Given the description of an element on the screen output the (x, y) to click on. 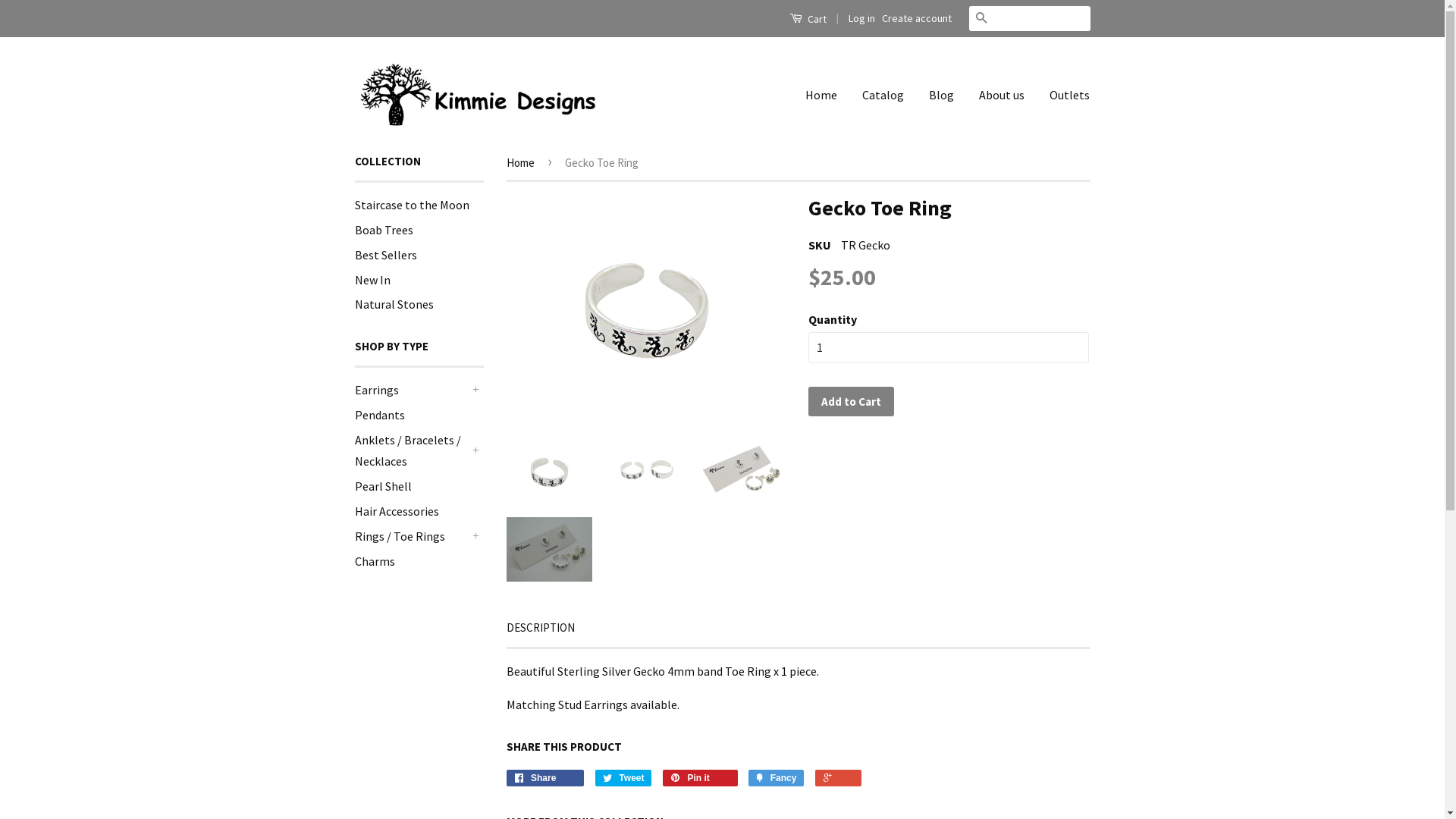
Fancy Element type: text (775, 777)
Cart Element type: text (806, 17)
DESCRIPTION Element type: text (540, 627)
Home Element type: text (826, 94)
Tweet Element type: text (623, 777)
Catalog Element type: text (882, 94)
Create account Element type: text (915, 18)
+ Element type: text (475, 450)
Blog Element type: text (941, 94)
Outlets Element type: text (1063, 94)
+ Element type: text (475, 389)
Anklets / Bracelets / Necklaces Element type: text (411, 451)
New In Element type: text (372, 278)
+ Element type: text (475, 535)
Natural Stones Element type: text (393, 303)
Add to Cart Element type: text (851, 401)
Pin it Element type: text (699, 777)
Best Sellers Element type: text (385, 254)
Rings / Toe Rings Element type: text (411, 536)
About us Element type: text (1001, 94)
Charms Element type: text (374, 560)
Pearl Shell Element type: text (382, 485)
Earrings Element type: text (411, 390)
Boab Trees Element type: text (383, 229)
Log in Element type: text (860, 18)
Home Element type: text (522, 162)
Pendants Element type: text (379, 414)
Share Element type: text (545, 777)
Search Element type: text (981, 18)
Hair Accessories Element type: text (396, 510)
Staircase to the Moon Element type: text (411, 204)
